Given the description of an element on the screen output the (x, y) to click on. 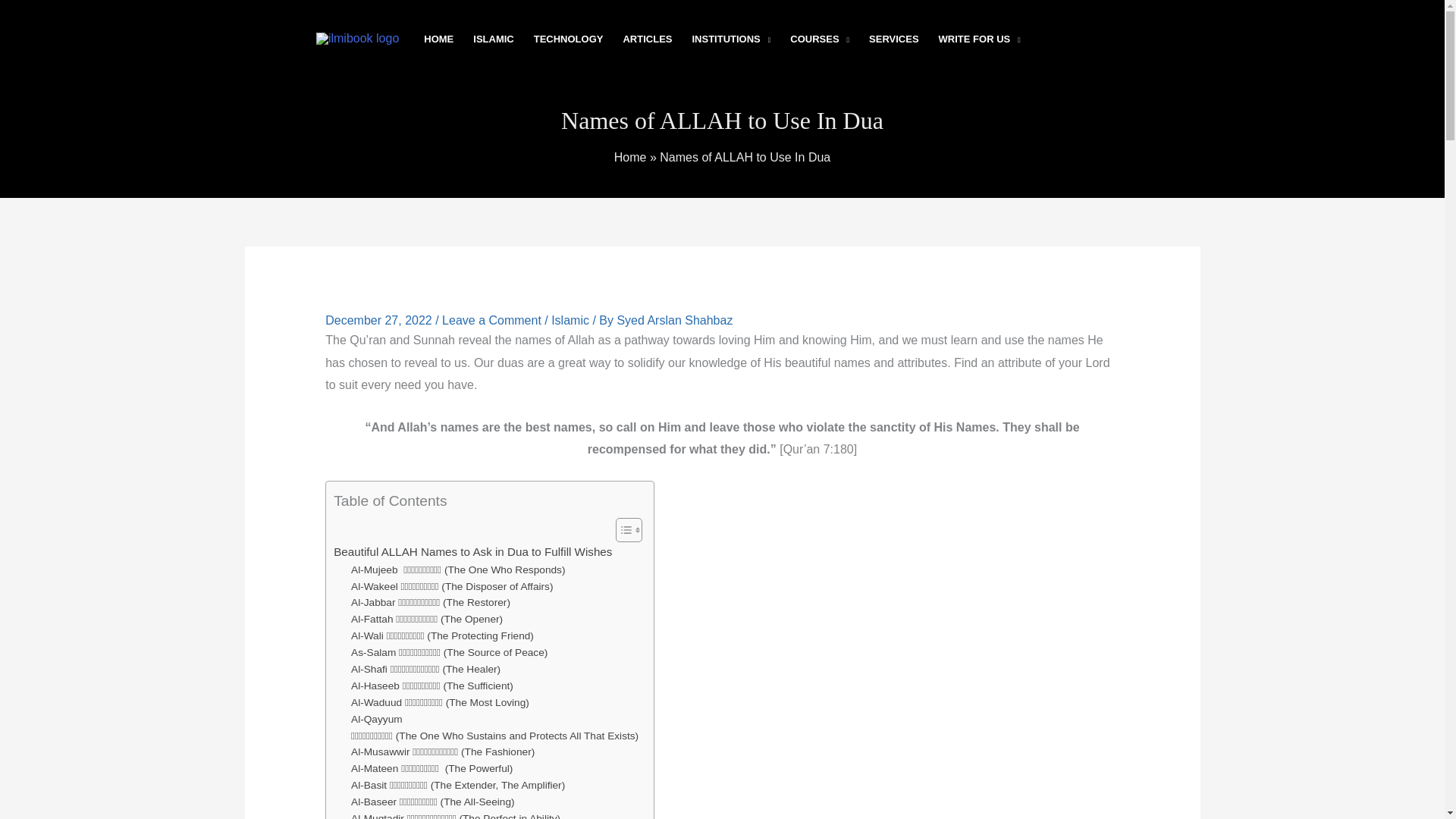
SERVICES (893, 39)
ISLAMIC (492, 39)
WRITE FOR US (979, 39)
ARTICLES (646, 39)
Beautiful ALLAH Names to Ask in Dua to Fulfill Wishes (472, 551)
Al-Qayyum (376, 719)
HOME (438, 39)
INSTITUTIONS (730, 39)
TECHNOLOGY (568, 39)
COURSES (819, 39)
View all posts by Syed Arslan Shahbaz (673, 319)
